Given the description of an element on the screen output the (x, y) to click on. 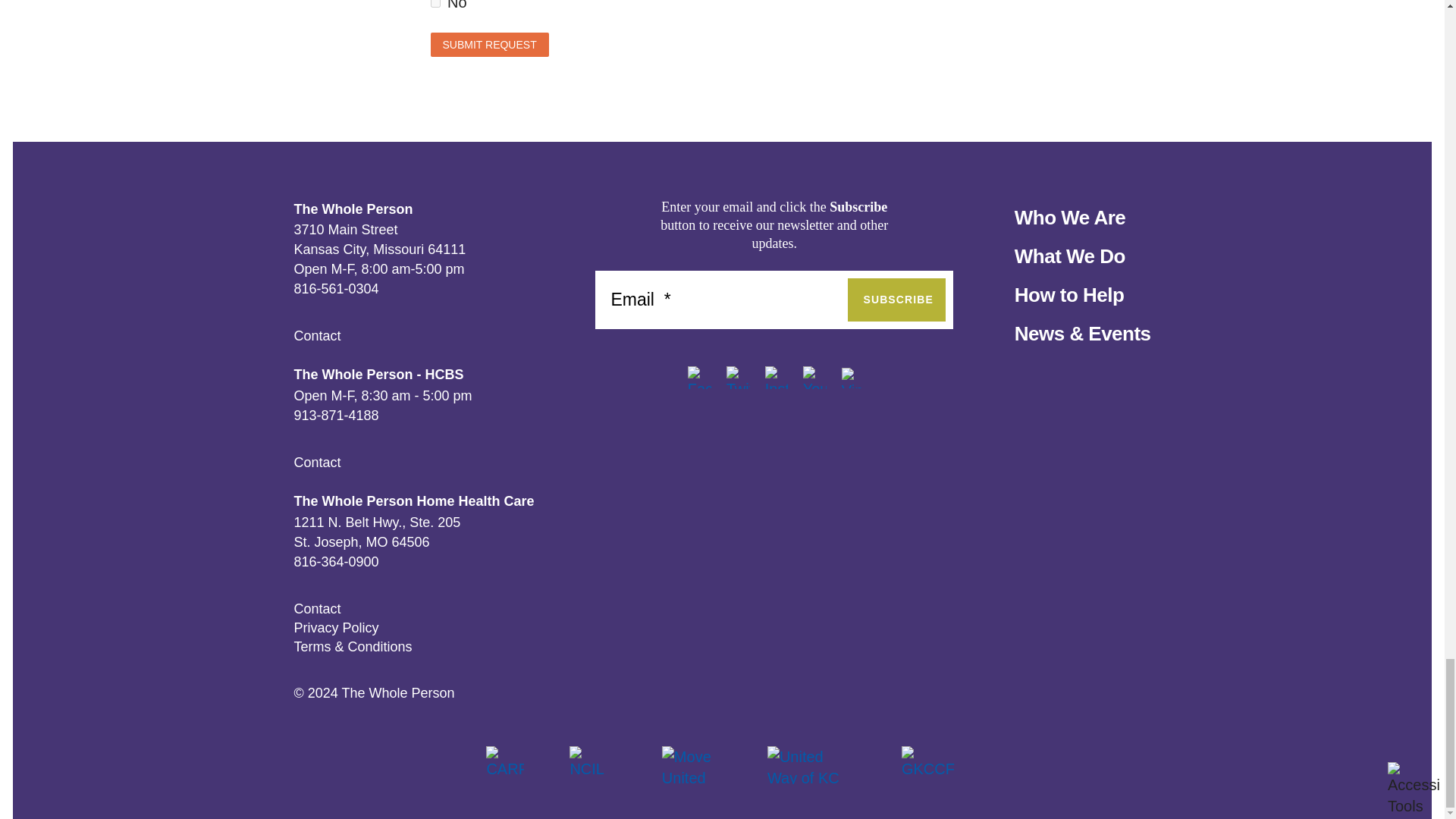
Subscribe (896, 300)
SUBMIT REQUEST (489, 44)
Personal Care Assistance Information Request (722, 28)
No (435, 3)
